Given the description of an element on the screen output the (x, y) to click on. 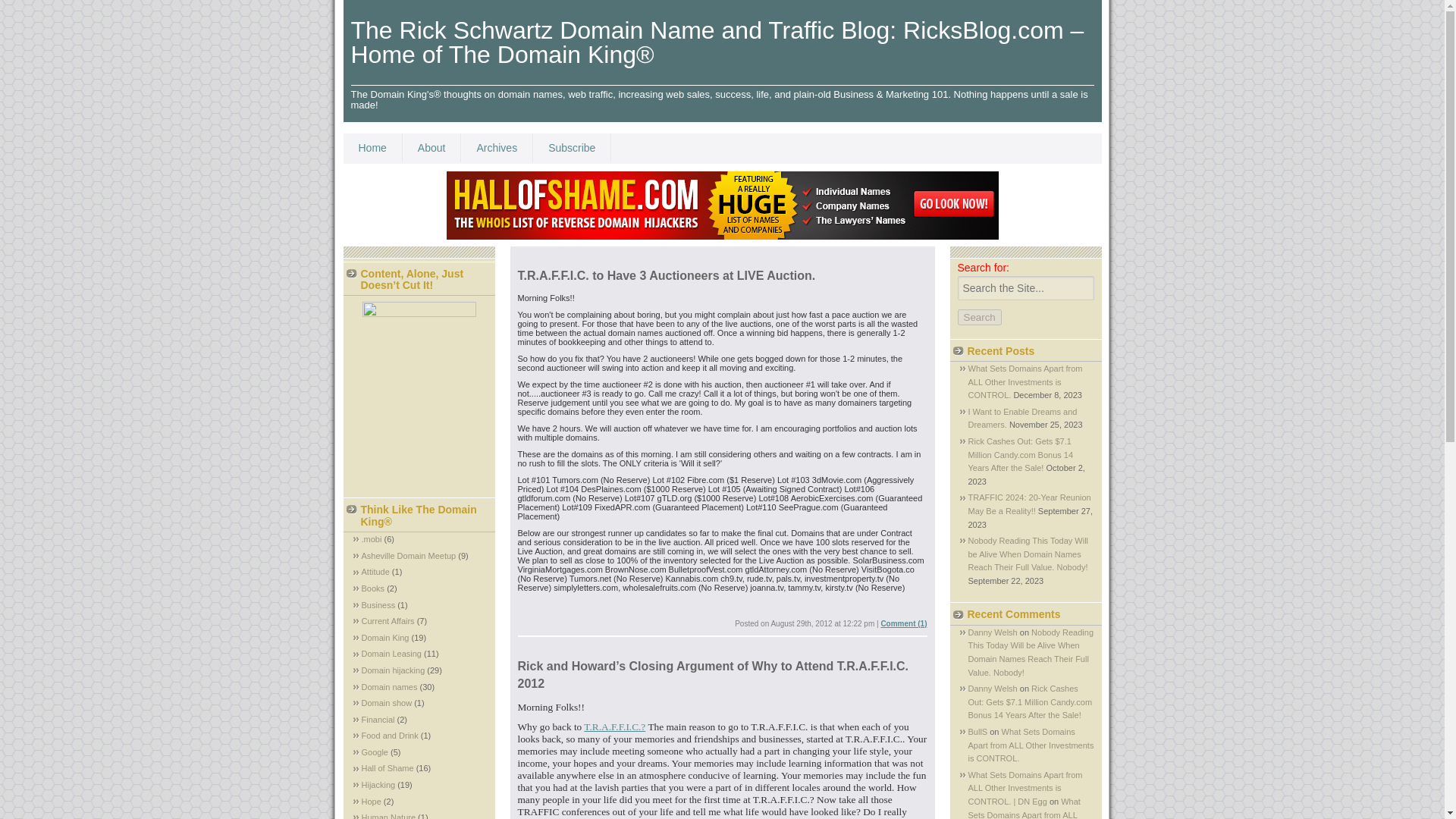
Domain names (388, 686)
Domain King (385, 637)
Domain Leasing (391, 653)
Home (371, 147)
Hope (370, 800)
Human Nature (387, 816)
Food and Drink (389, 735)
Attitude (374, 571)
About (432, 147)
T.R.A.F.F.I.C. to Have 3 Auctioneers at LIVE Auction. (665, 275)
